Given the description of an element on the screen output the (x, y) to click on. 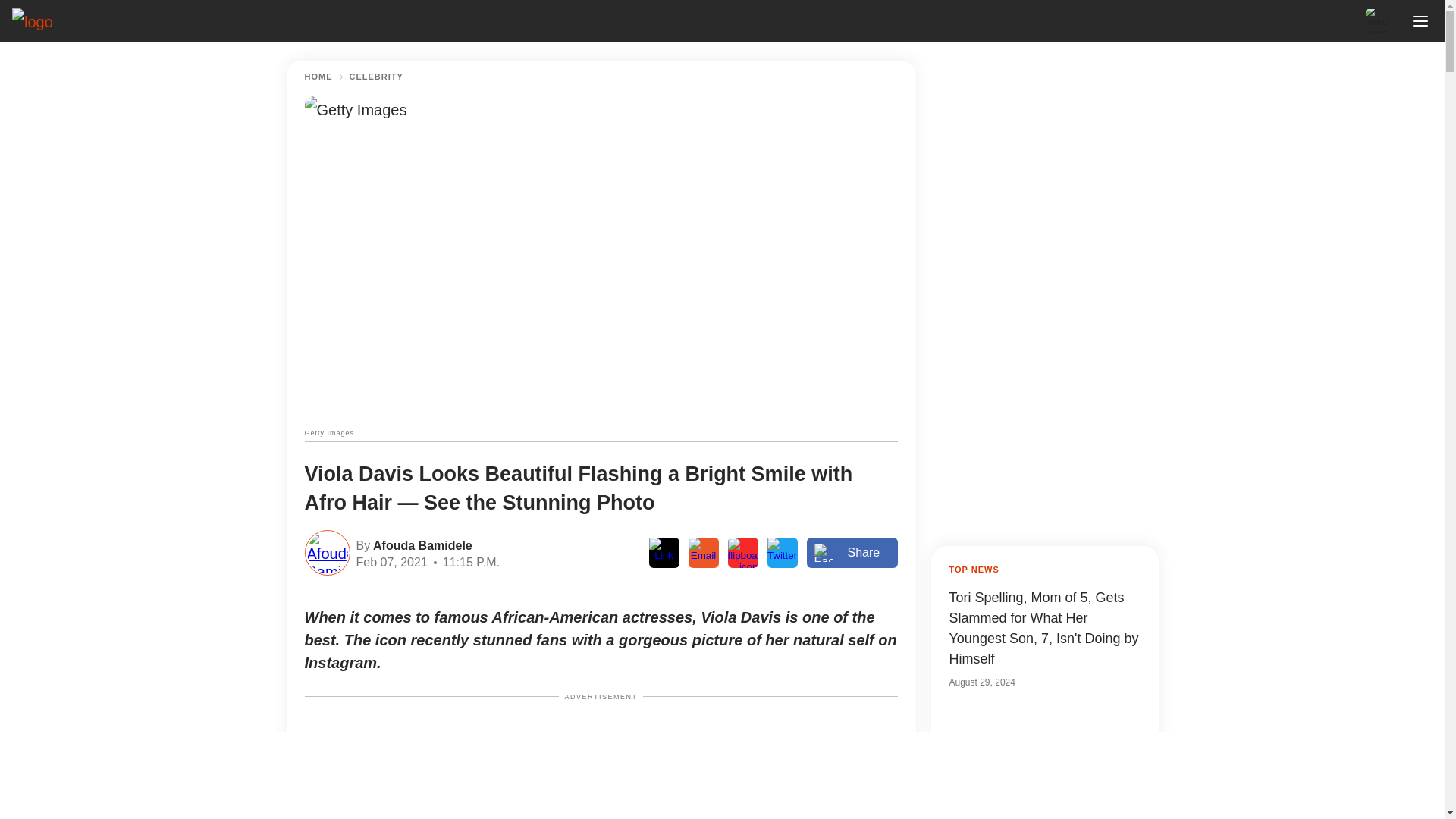
Afouda Bamidele (420, 544)
HOME (318, 76)
CELEBRITY (376, 76)
